Given the description of an element on the screen output the (x, y) to click on. 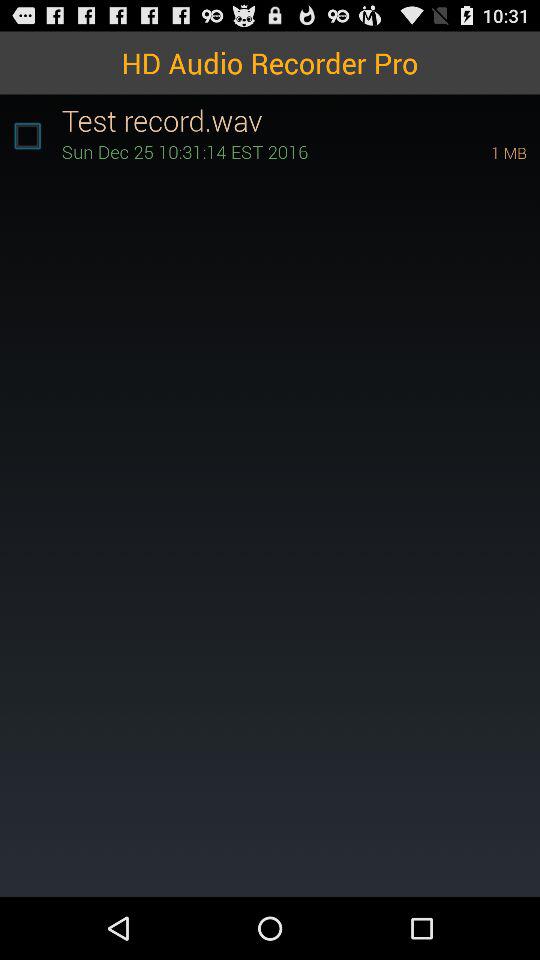
swipe to the test record.wav item (300, 120)
